Given the description of an element on the screen output the (x, y) to click on. 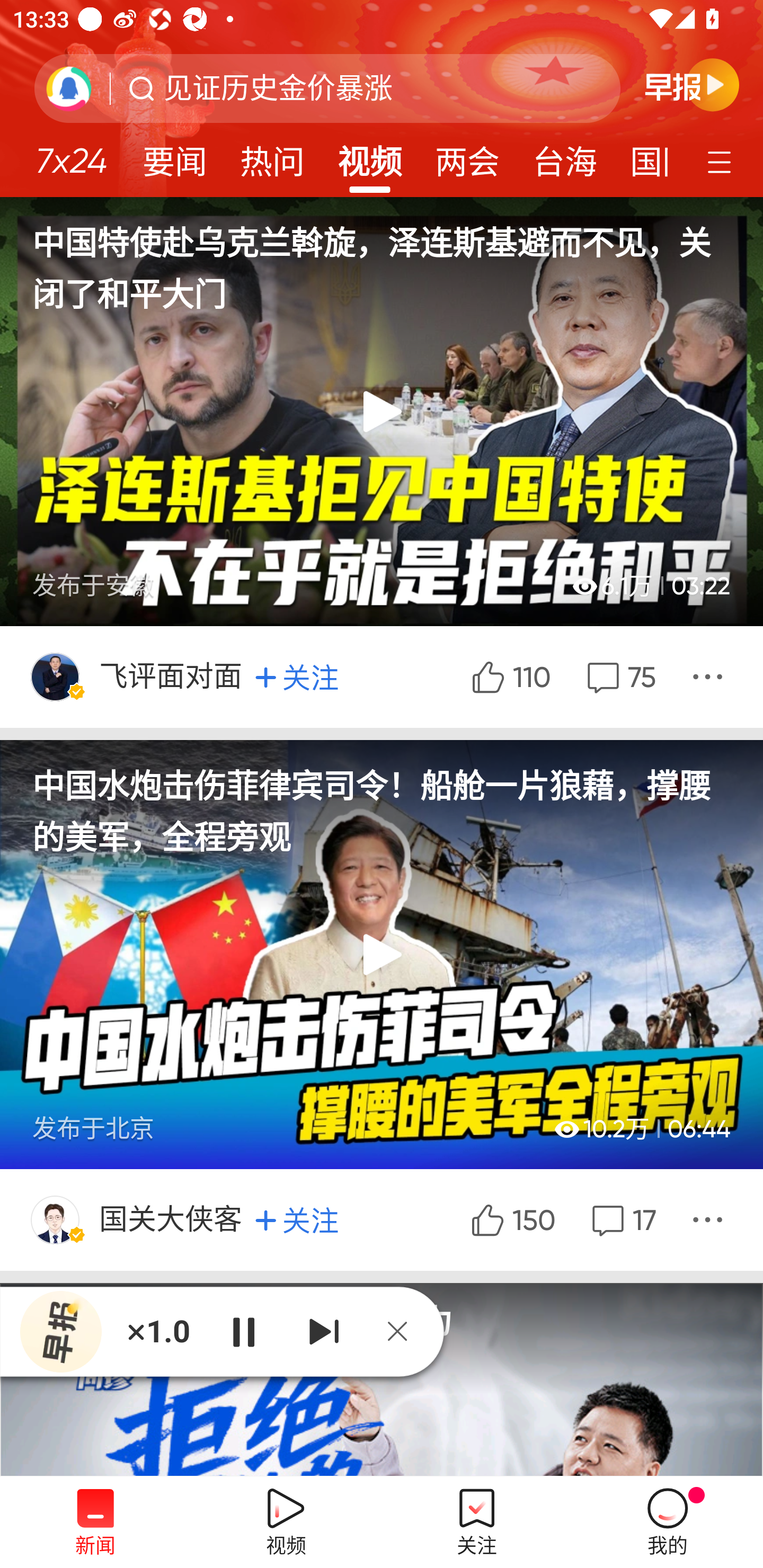
腾讯新闻 (381, 98)
早晚报 (691, 84)
刷新 (68, 88)
见证历史金价暴涨 (278, 88)
7x24 (70, 154)
要闻 (174, 155)
热问 (272, 155)
视频 (369, 155)
两会 (466, 155)
台海 (564, 155)
 定制频道 (721, 160)
播放,中国特使赴乌克兰斡旋，泽连斯基避而不见，关闭了和平大门 发布于安徽  6.1万 03:22 (381, 411)
中国特使赴乌克兰斡旋，泽连斯基避而不见，关闭了和平大门 (381, 256)
110赞 (509, 676)
评论  75 (619, 676)
分享  (709, 676)
飞评面对面 (172, 676)
关注 (296, 677)
中国水炮击伤菲律宾司令！船舱一片狼藉，撑腰的美军，全程旁观 (381, 799)
150赞 (511, 1219)
评论  17 (621, 1219)
分享  (709, 1219)
国关大侠客 (172, 1219)
关注 (296, 1219)
 播放 (242, 1330)
 下一个 (323, 1330)
 关闭 (404, 1330)
播放器 (61, 1331)
 1.0 (157, 1330)
